Given the description of an element on the screen output the (x, y) to click on. 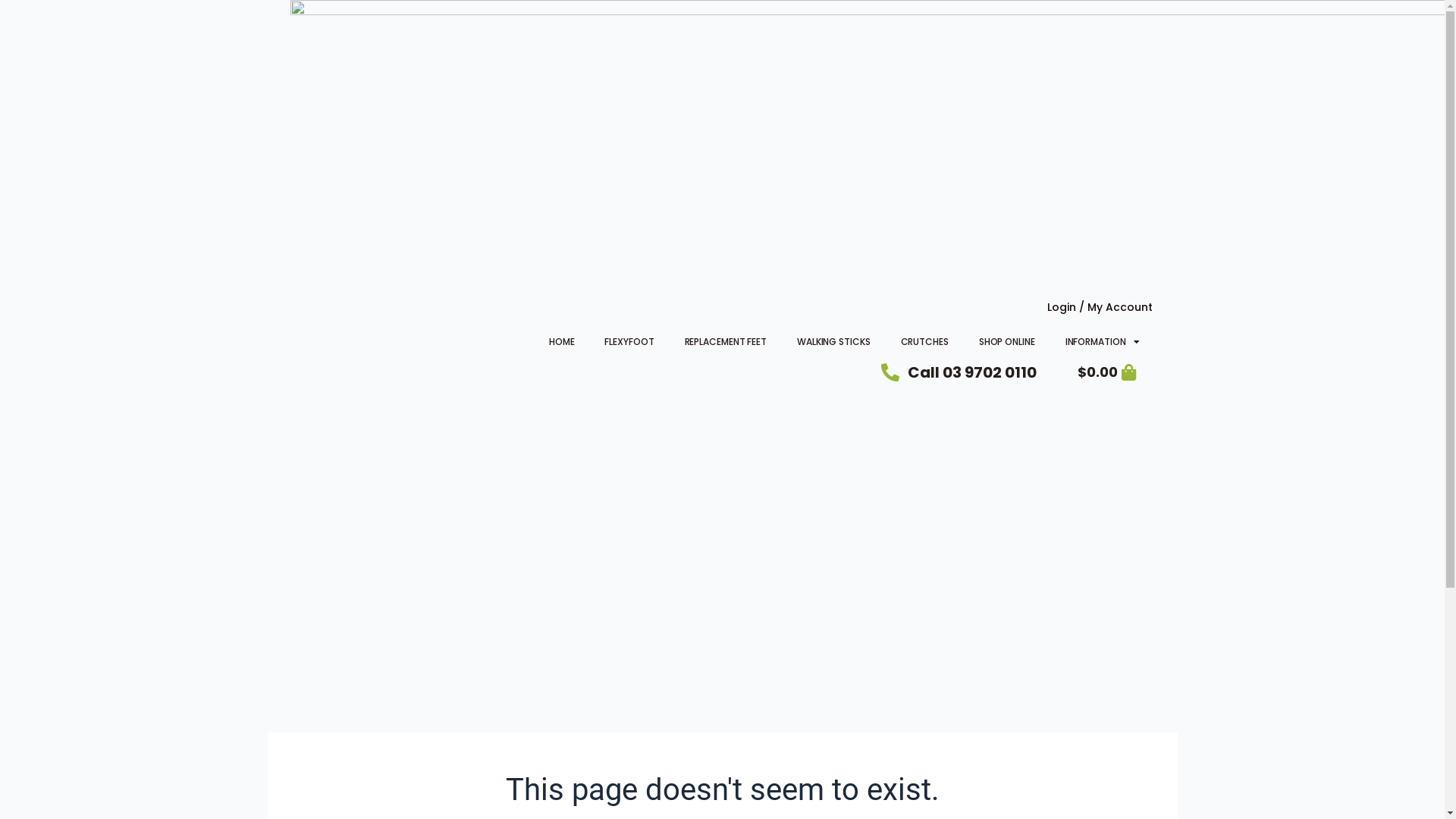
HOME Element type: text (561, 341)
CRUTCHES Element type: text (924, 341)
SHOP ONLINE Element type: text (1006, 341)
INFORMATION Element type: text (1102, 341)
WALKING STICKS Element type: text (833, 341)
Login / My Account Element type: text (1099, 306)
REPLACEMENT FEET Element type: text (725, 341)
Call 03 9702 0110 Element type: text (958, 372)
FLEXYFOOT Element type: text (628, 341)
$0.00
Cart Element type: text (1106, 372)
